Given the description of an element on the screen output the (x, y) to click on. 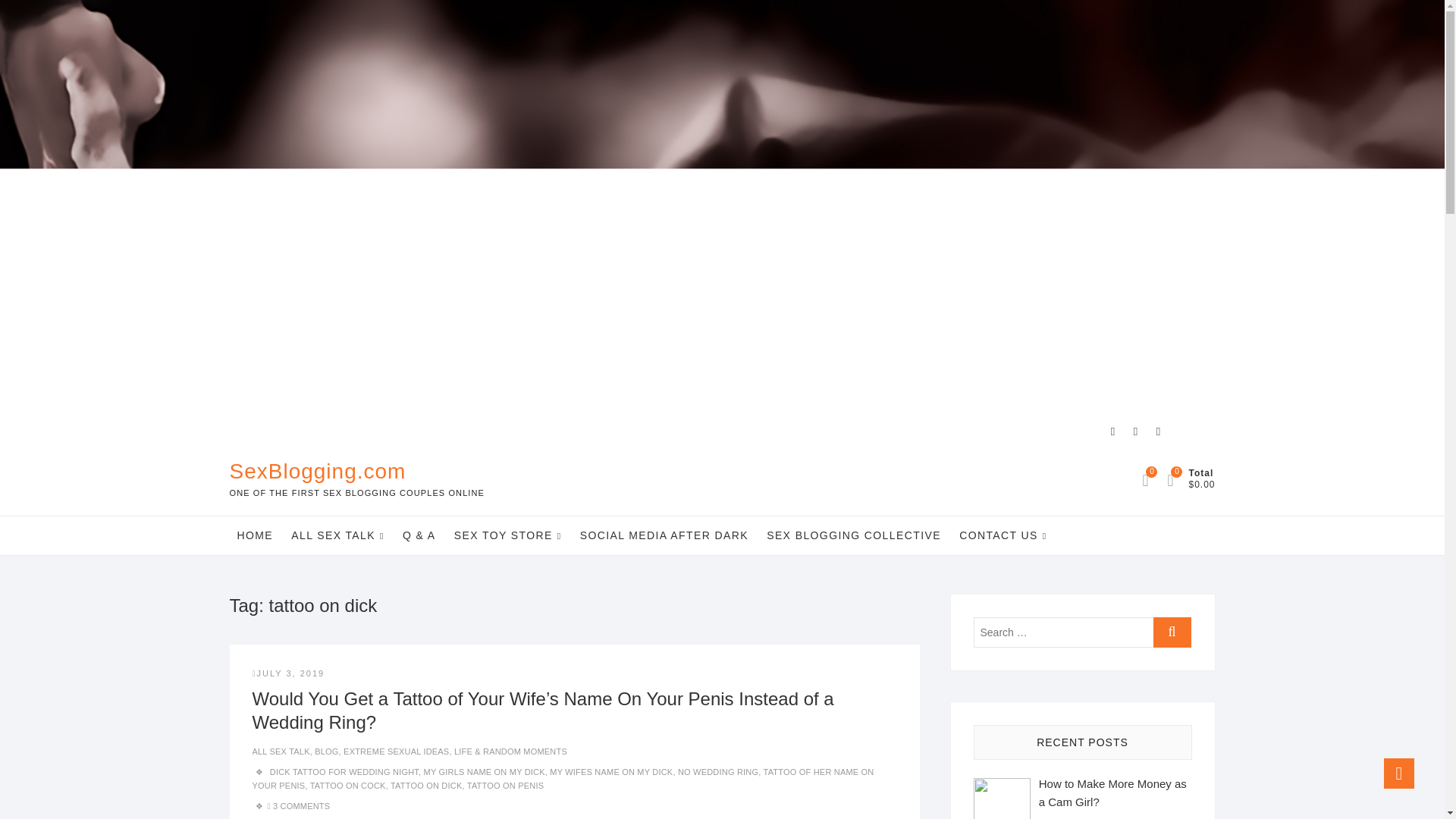
SexBlogging.com (356, 471)
JULY 3, 2019 (287, 673)
BLOG (325, 750)
CONTACT US (1003, 535)
7:31 am (287, 673)
ALL SEX TALK (337, 535)
SexBlogging.com (356, 471)
SEX TOY STORE (507, 535)
CouplesRTs (1158, 431)
HOME (254, 535)
SEX BLOGGING COLLECTIVE (853, 535)
ALL SEX TALK (279, 750)
SOCIAL MEDIA AFTER DARK (663, 535)
